Given the description of an element on the screen output the (x, y) to click on. 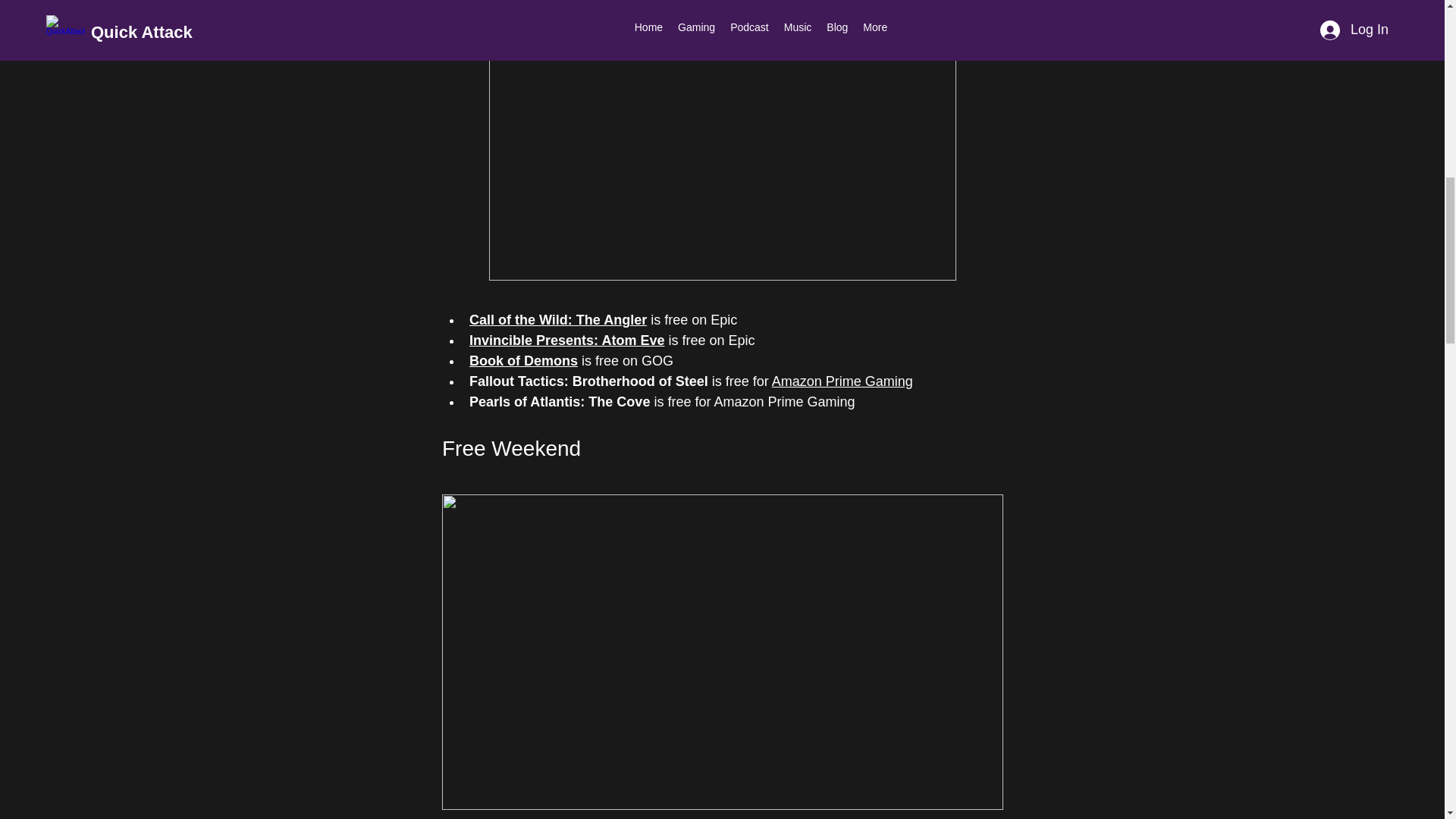
Amazon Prime Gaming (841, 381)
Call of the Wild: The Angler (557, 319)
Invincible Presents: Atom Eve (565, 340)
Book of Demons (522, 360)
